Given the description of an element on the screen output the (x, y) to click on. 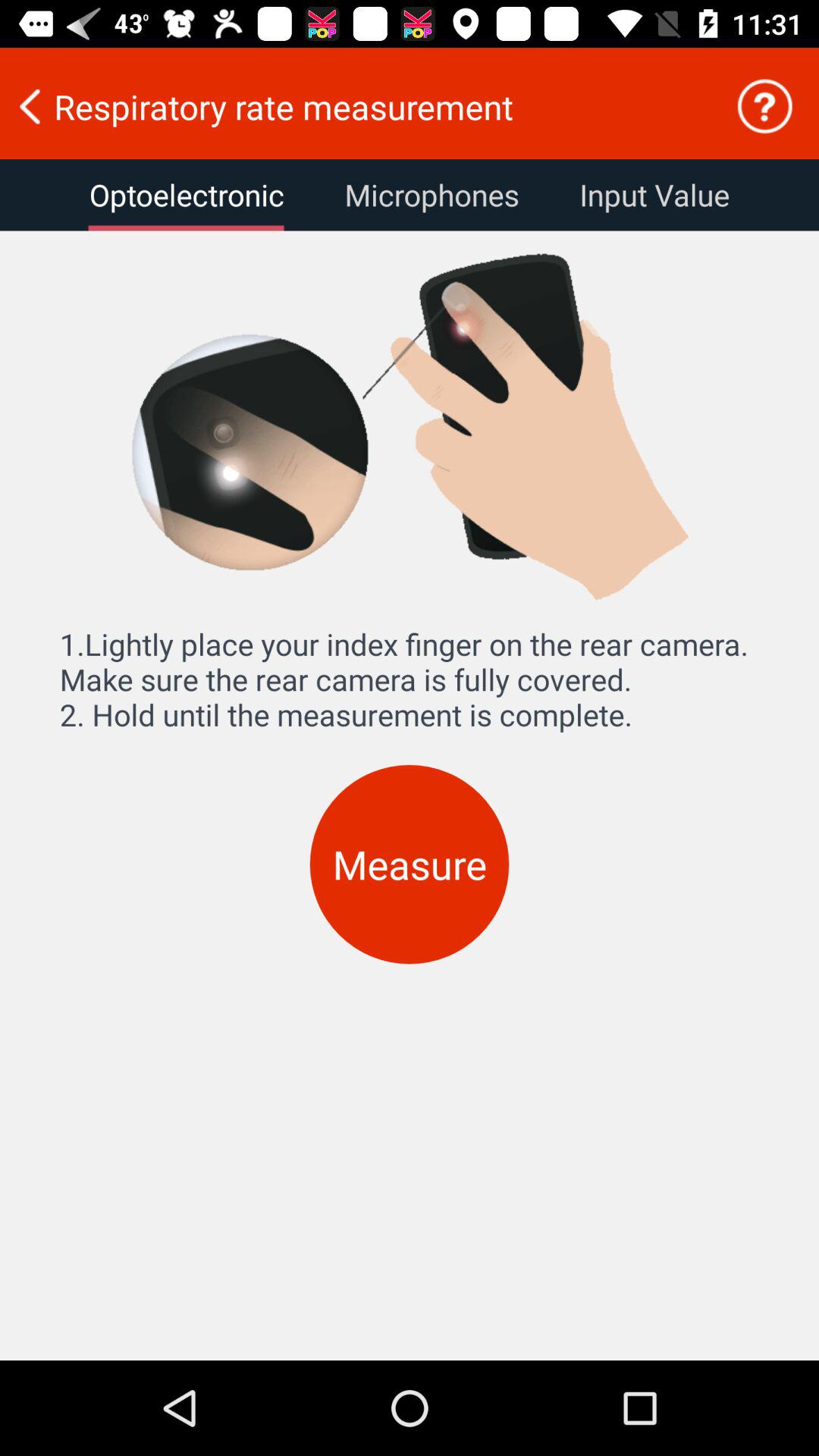
open the icon above the input value (764, 106)
